Given the description of an element on the screen output the (x, y) to click on. 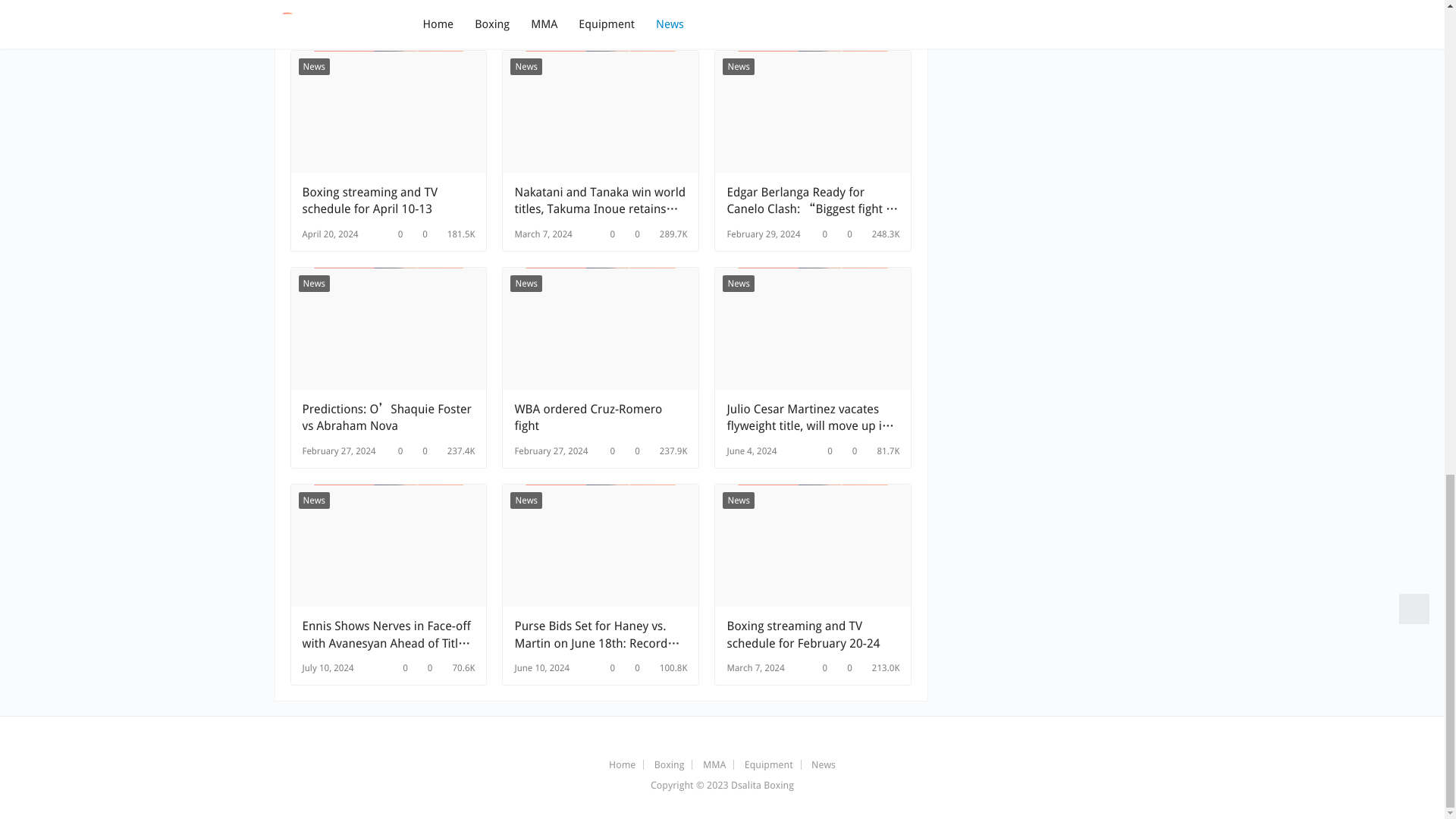
Boxing streaming and TV schedule for April 10-13 (388, 111)
Boxing streaming and TV schedule for April 10-13 (387, 200)
News (314, 66)
Boxing streaming and TV schedule for April 10-13 (387, 200)
